Given the description of an element on the screen output the (x, y) to click on. 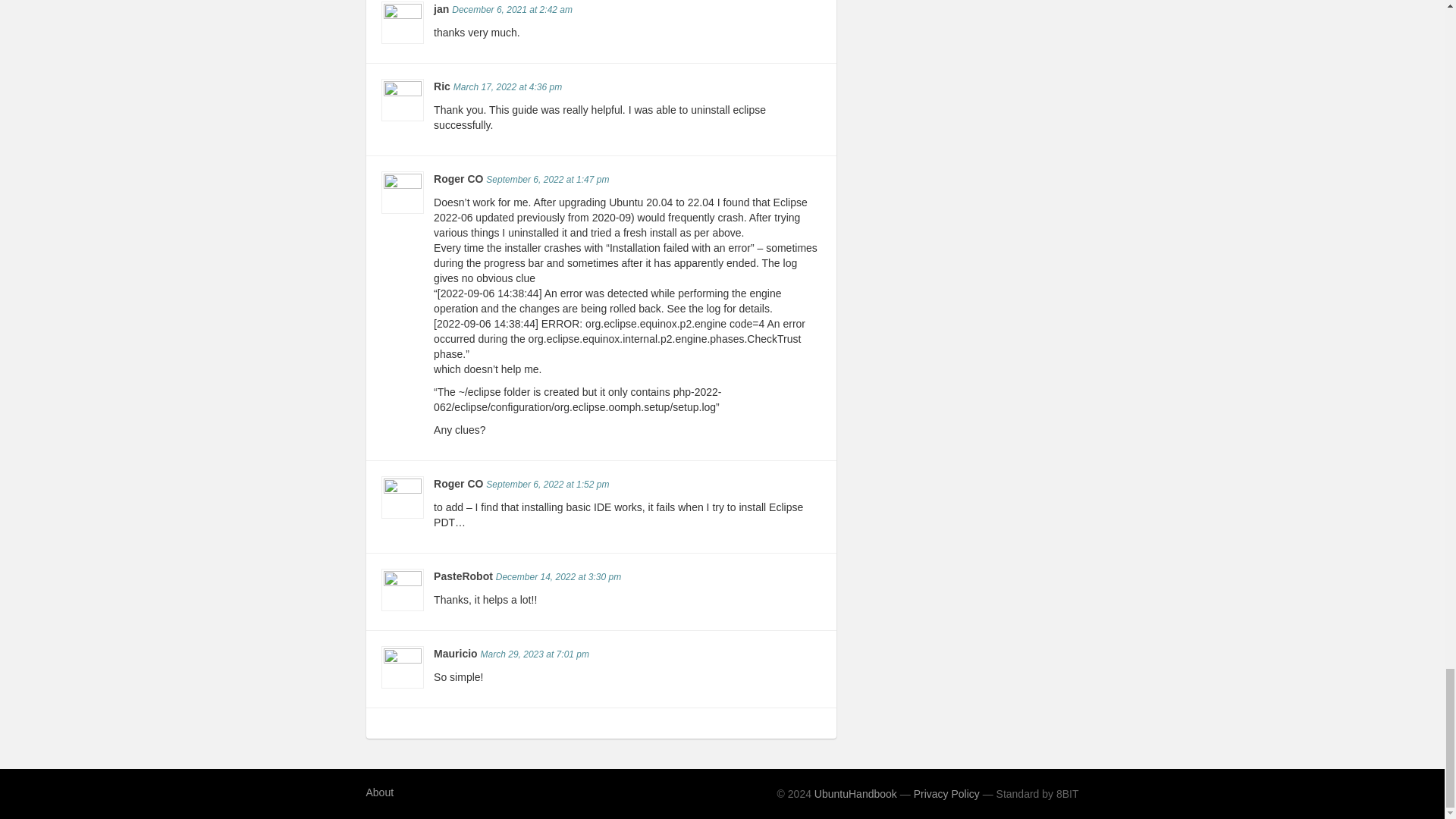
Permalink (507, 86)
Permalink (547, 484)
Permalink (547, 179)
Permalink (511, 9)
